Given the description of an element on the screen output the (x, y) to click on. 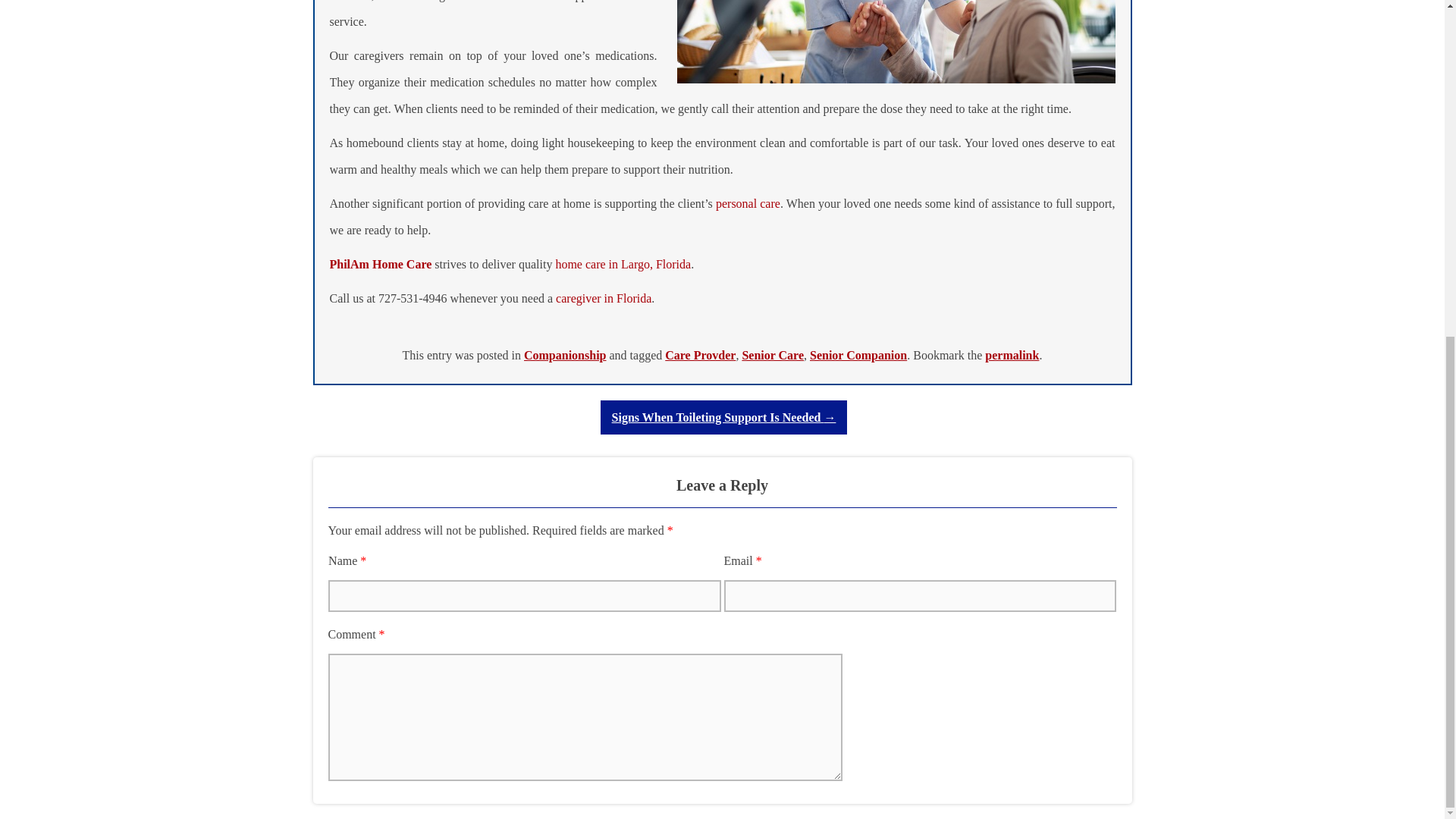
Senior Companion (858, 354)
Senior Care (772, 354)
Permalink to Companionship Can Be So Much More (1012, 354)
permalink (1012, 354)
personal care (748, 202)
Companionship (565, 354)
home care in Largo, Florida (622, 263)
Care Provder (700, 354)
caregiver in Florida (603, 297)
727-531-4946 (412, 297)
